Given the description of an element on the screen output the (x, y) to click on. 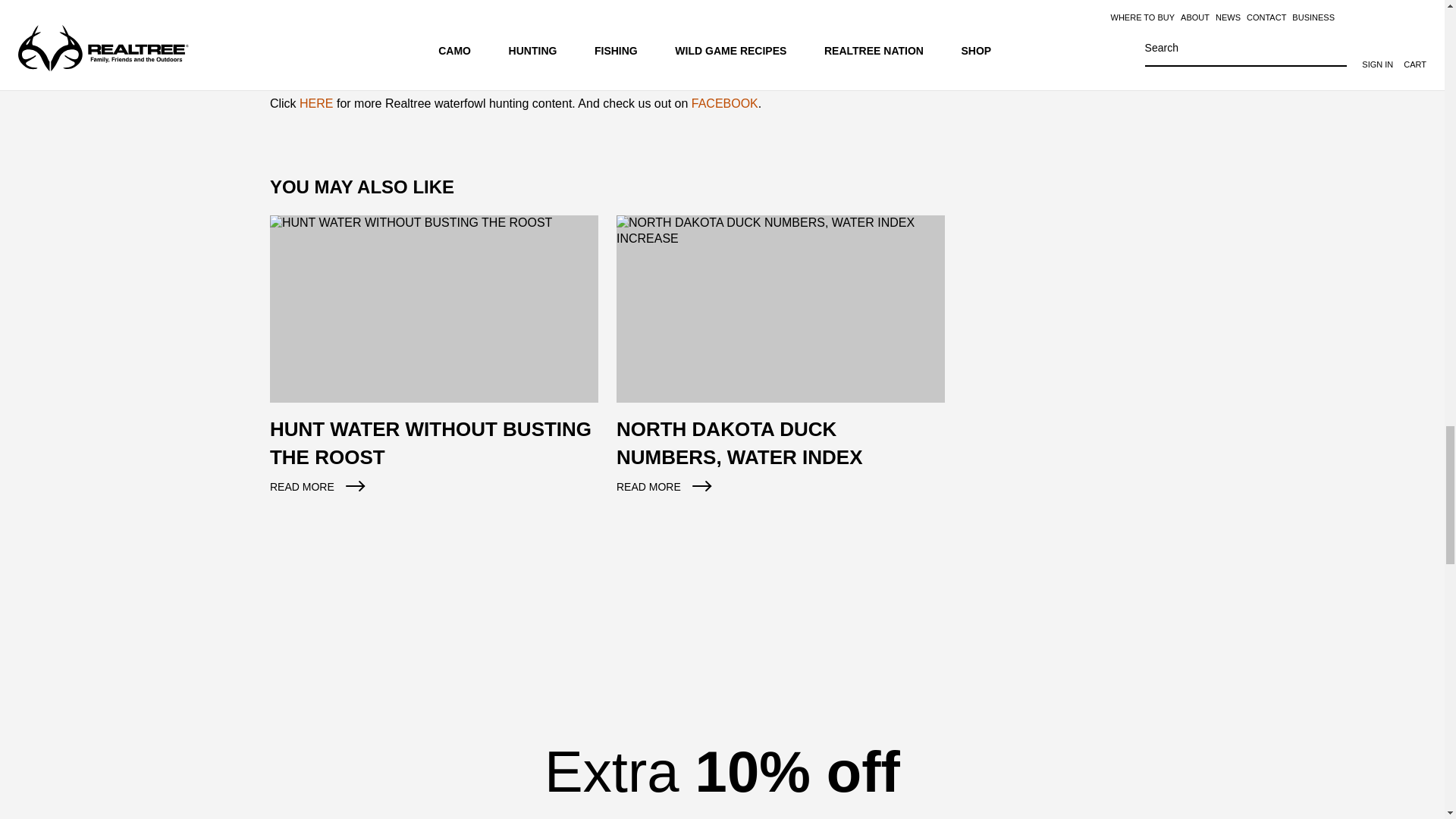
Hunt Water Without Busting the Roost (433, 363)
North Dakota Duck Numbers, Water Index Increase (779, 363)
